Given the description of an element on the screen output the (x, y) to click on. 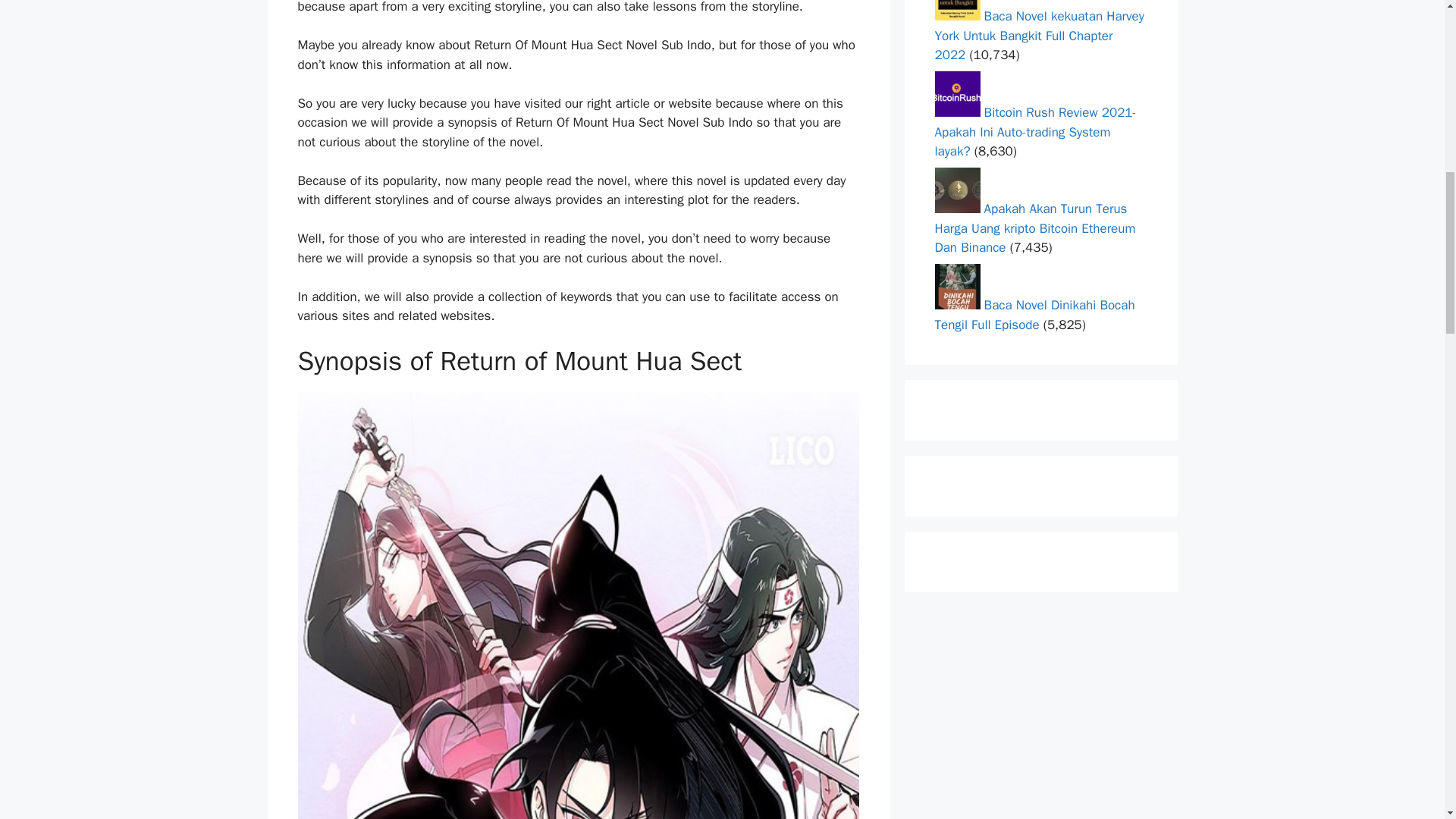
Baca Novel Dinikahi Bocah Tengil Full Episode (1034, 314)
